Given the description of an element on the screen output the (x, y) to click on. 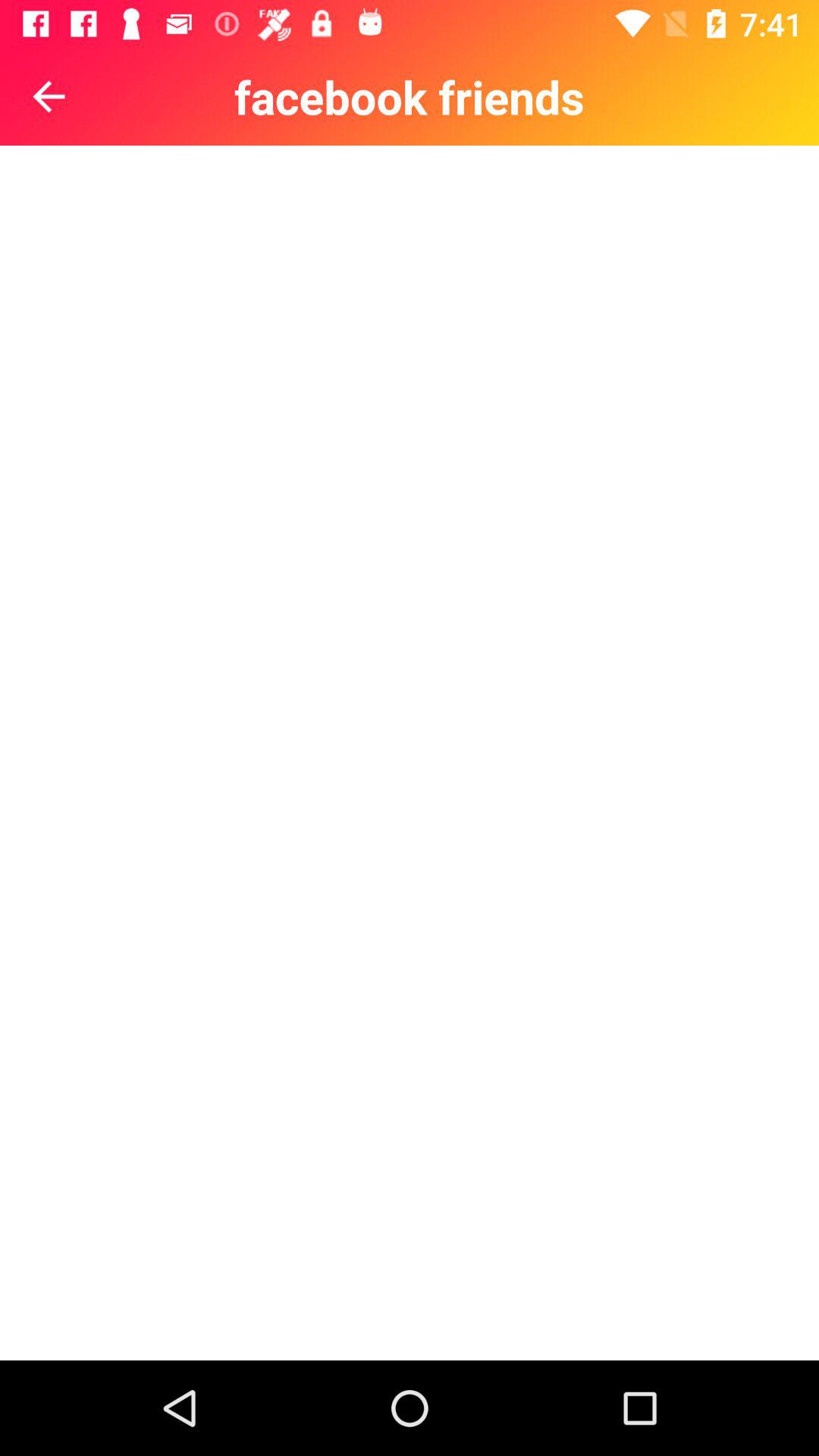
open the item at the top left corner (48, 96)
